Given the description of an element on the screen output the (x, y) to click on. 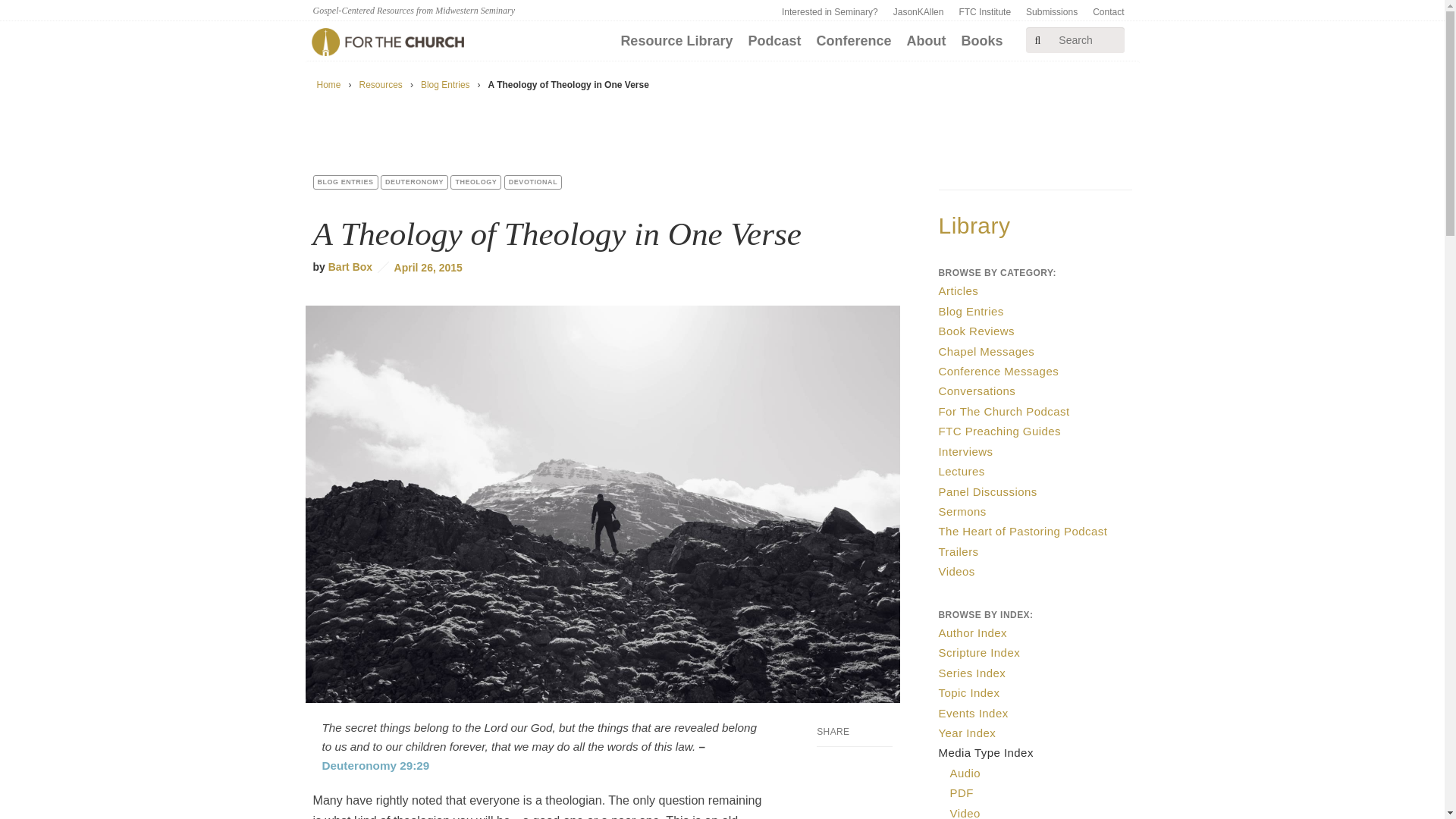
Articles (958, 290)
For The Church (387, 41)
BLOG ENTRIES (345, 182)
Contact (1107, 12)
April 26, 2015 (420, 266)
JasonKAllen (918, 12)
Go (1108, 36)
Book Reviews (976, 330)
Books (981, 40)
Submissions (1050, 12)
Conversations (977, 390)
Blog Entries (445, 84)
Library (974, 225)
Podcast (773, 40)
Home (328, 84)
